Given the description of an element on the screen output the (x, y) to click on. 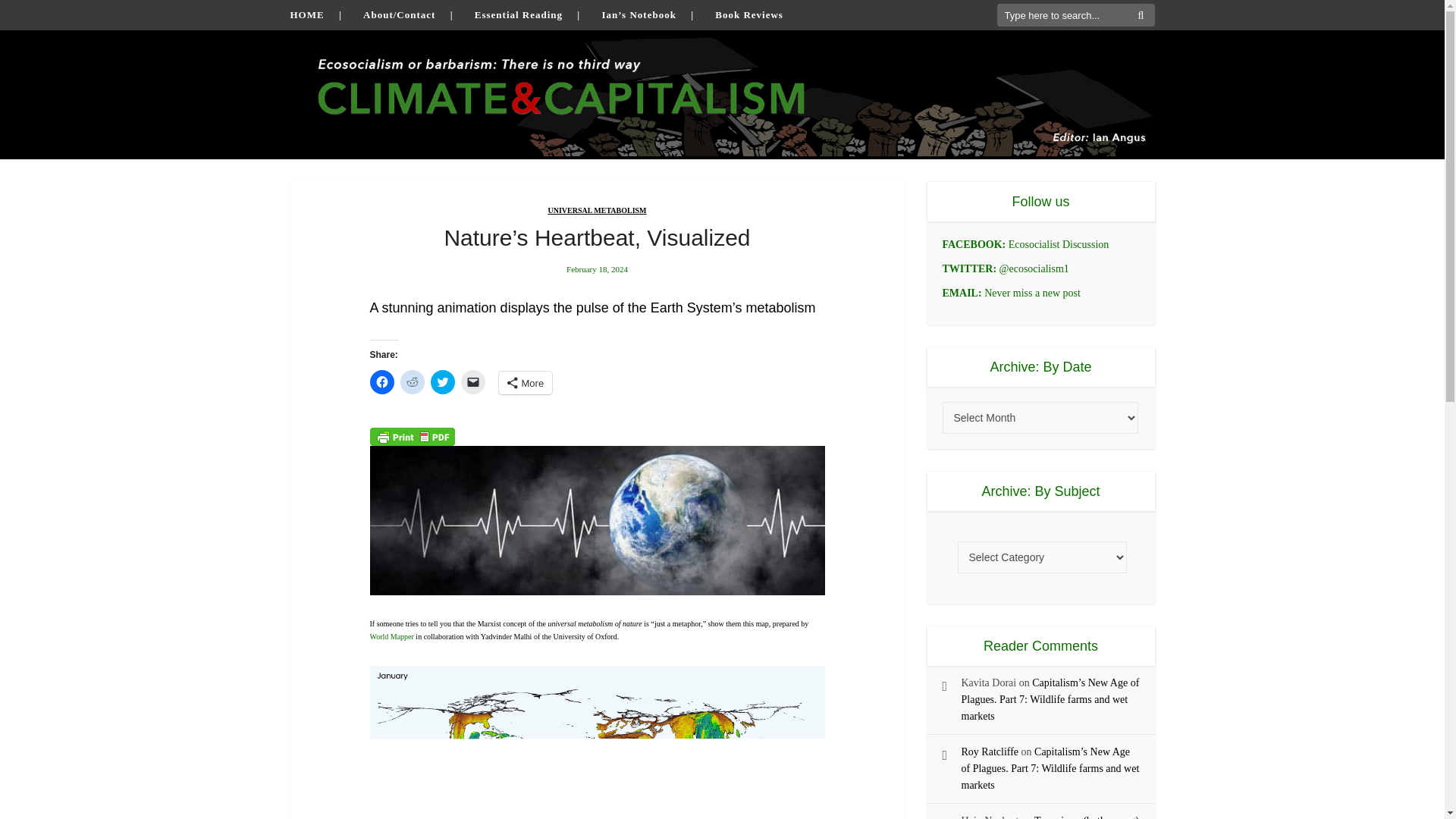
Click to share on Twitter (442, 381)
Click to share on Reddit (412, 381)
HOME (306, 14)
World Mapper (392, 636)
Book Reviews (748, 14)
Type here to search... (1074, 15)
Click to email a link to a friend (472, 381)
More (526, 382)
Essential Reading (518, 14)
Type here to search... (1074, 15)
Click to share on Facebook (381, 381)
